Given the description of an element on the screen output the (x, y) to click on. 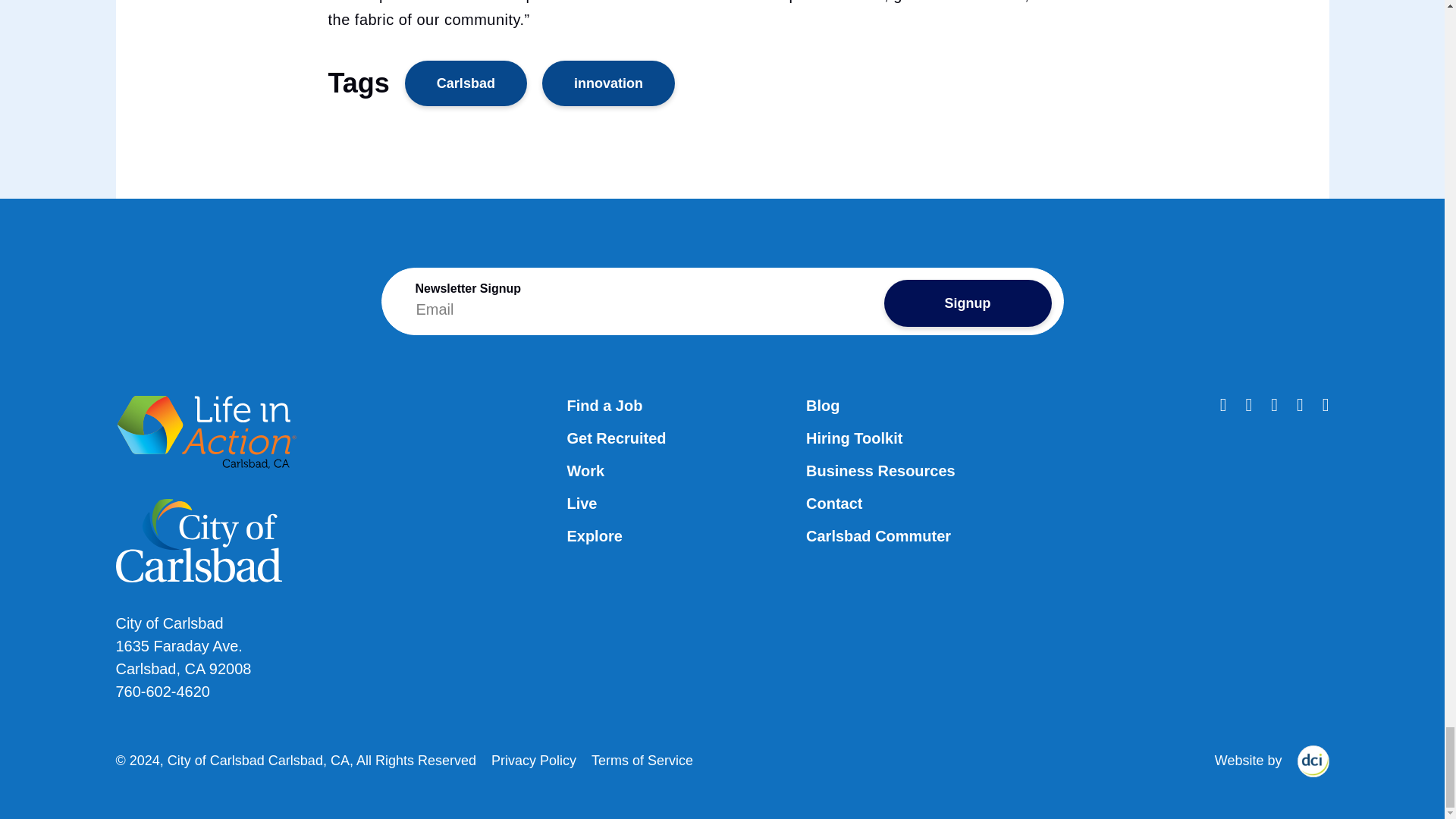
Get Recruited (615, 438)
Privacy Policy (534, 760)
Work (585, 471)
Hiring Toolkit (854, 438)
Blog (823, 405)
Find a Job (604, 405)
Business Resources (880, 471)
Terms of Service (642, 760)
innovation (608, 83)
Carlsbad Commuter (878, 536)
Explore (593, 536)
Live (581, 504)
Contact (833, 504)
Carlsbad (465, 83)
Signup (967, 303)
